Given the description of an element on the screen output the (x, y) to click on. 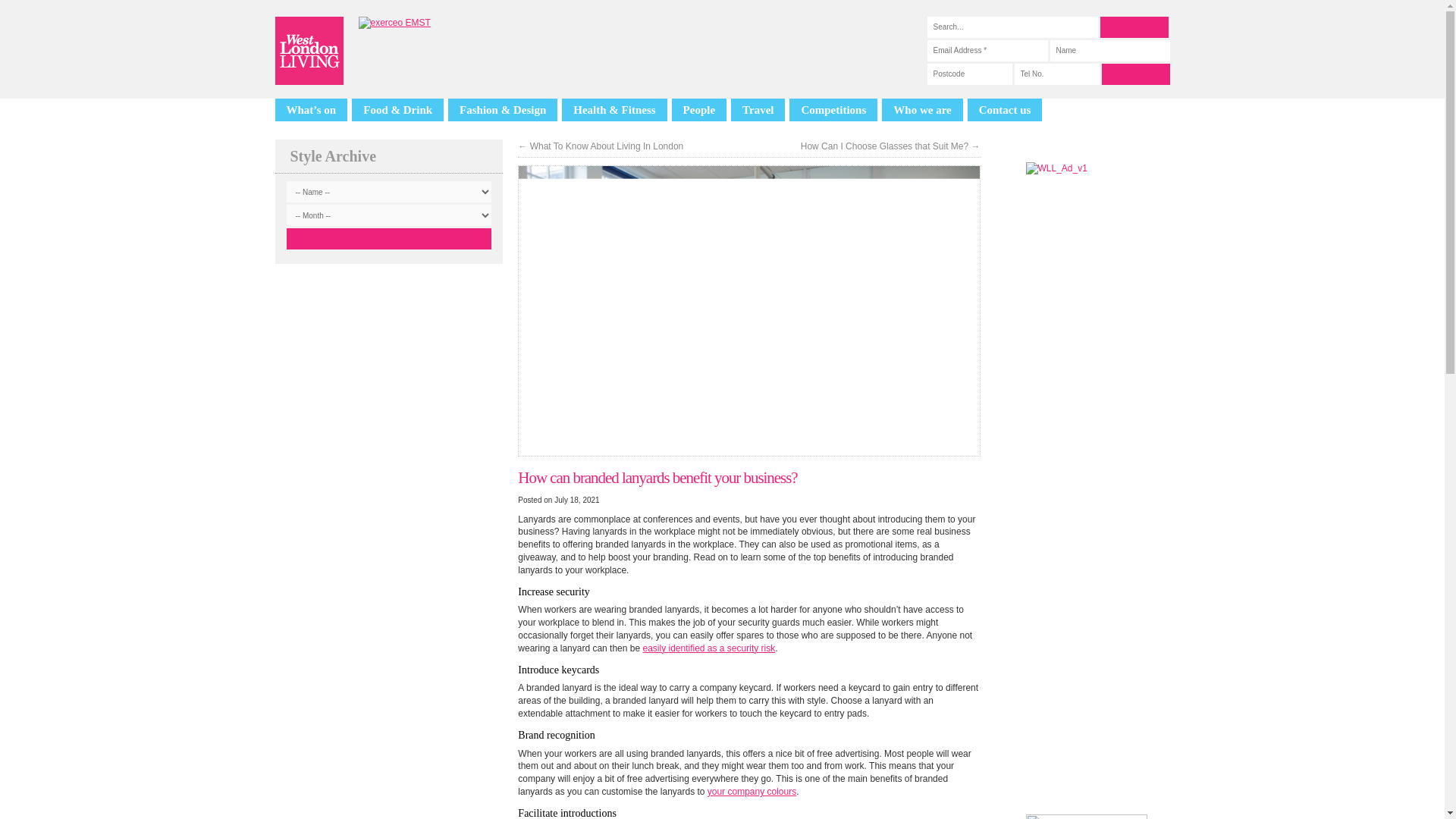
Subscribe (1134, 74)
Tel No. (1056, 74)
Postcode (968, 74)
Name (1109, 50)
West London Living (308, 50)
Search (1133, 26)
Search (1133, 26)
Subscribe (1134, 74)
Go (389, 238)
